Given the description of an element on the screen output the (x, y) to click on. 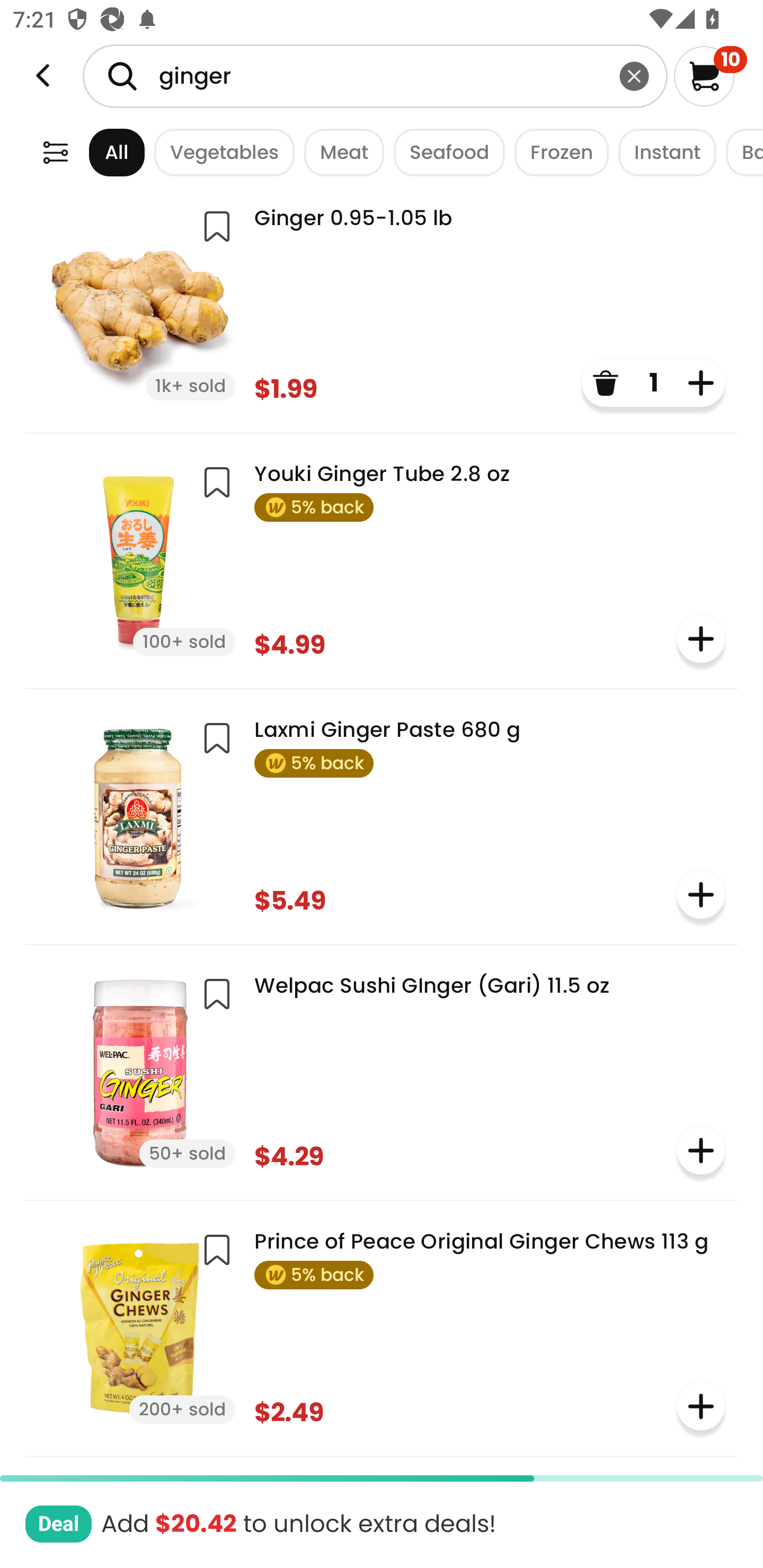
ginger (374, 75)
10 (709, 75)
Weee! (42, 76)
Weee! (55, 151)
All (99, 151)
Vegetables (219, 151)
Meat (338, 151)
Seafood (444, 151)
Frozen (556, 151)
Instant (662, 151)
Ginger 0.95-1.05 lb 1k+ sold $1.99 1 (381, 304)
Youki Ginger Tube 2.8 oz 5% back 100+ sold $4.99 (381, 559)
Laxmi Ginger Paste 680 g 5% back $5.49 (381, 815)
